Given the description of an element on the screen output the (x, y) to click on. 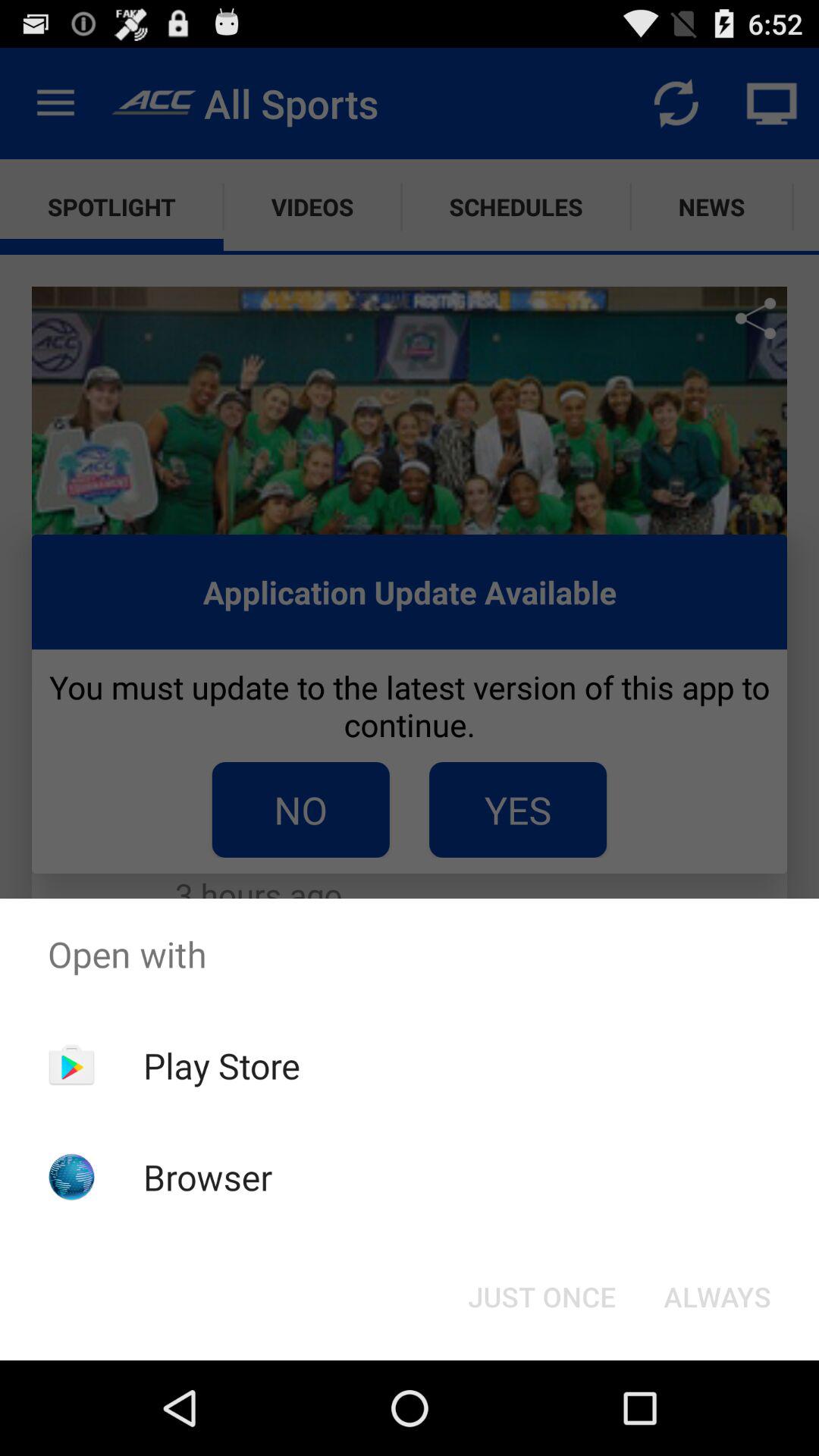
press the item below open with app (541, 1296)
